Given the description of an element on the screen output the (x, y) to click on. 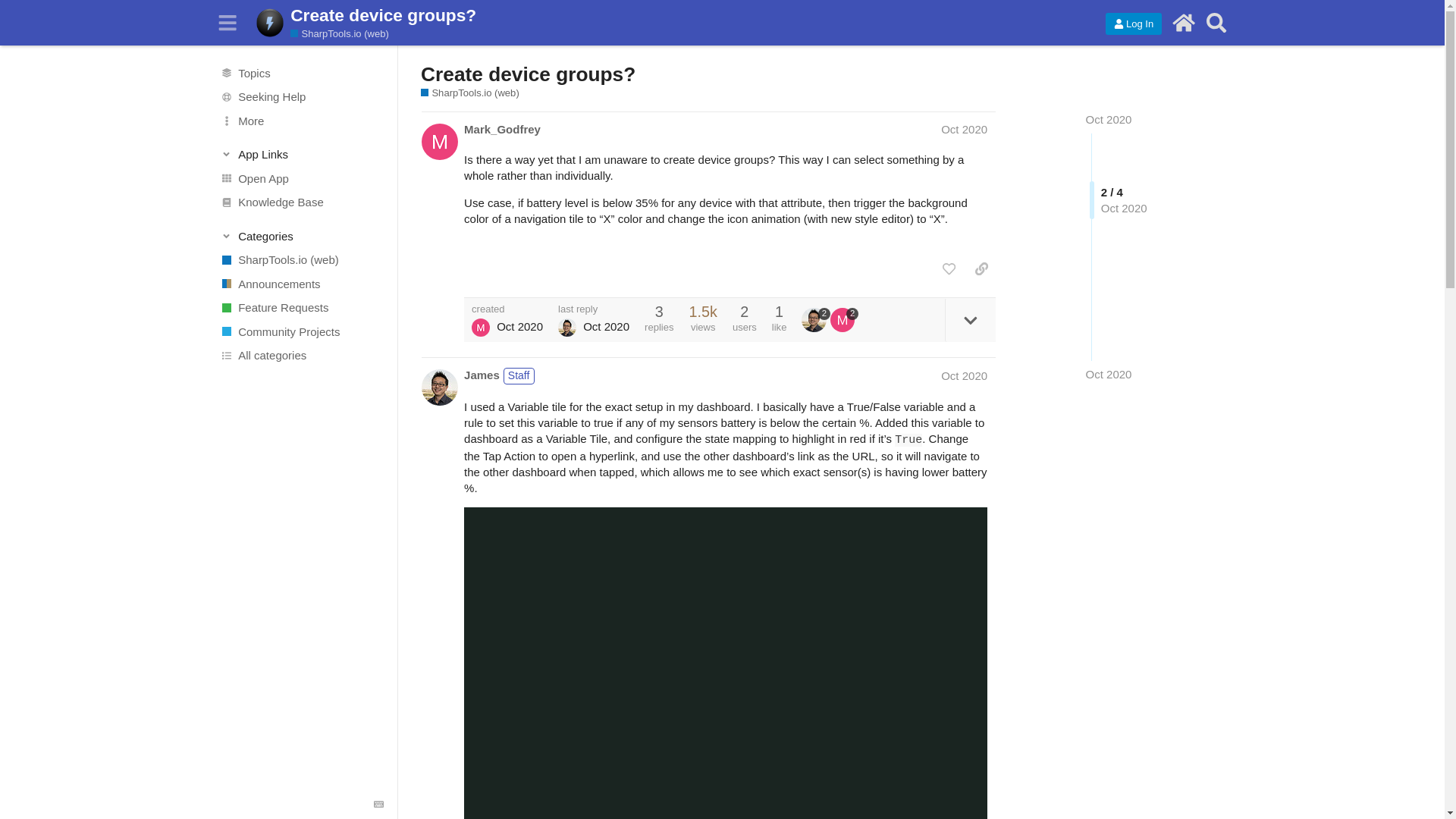
Search (1215, 22)
Post date (963, 128)
Feature Requests (301, 307)
Create device groups? (527, 74)
Create device groups? (686, 14)
Seeking Help (301, 96)
Toggle section (301, 154)
